Given the description of an element on the screen output the (x, y) to click on. 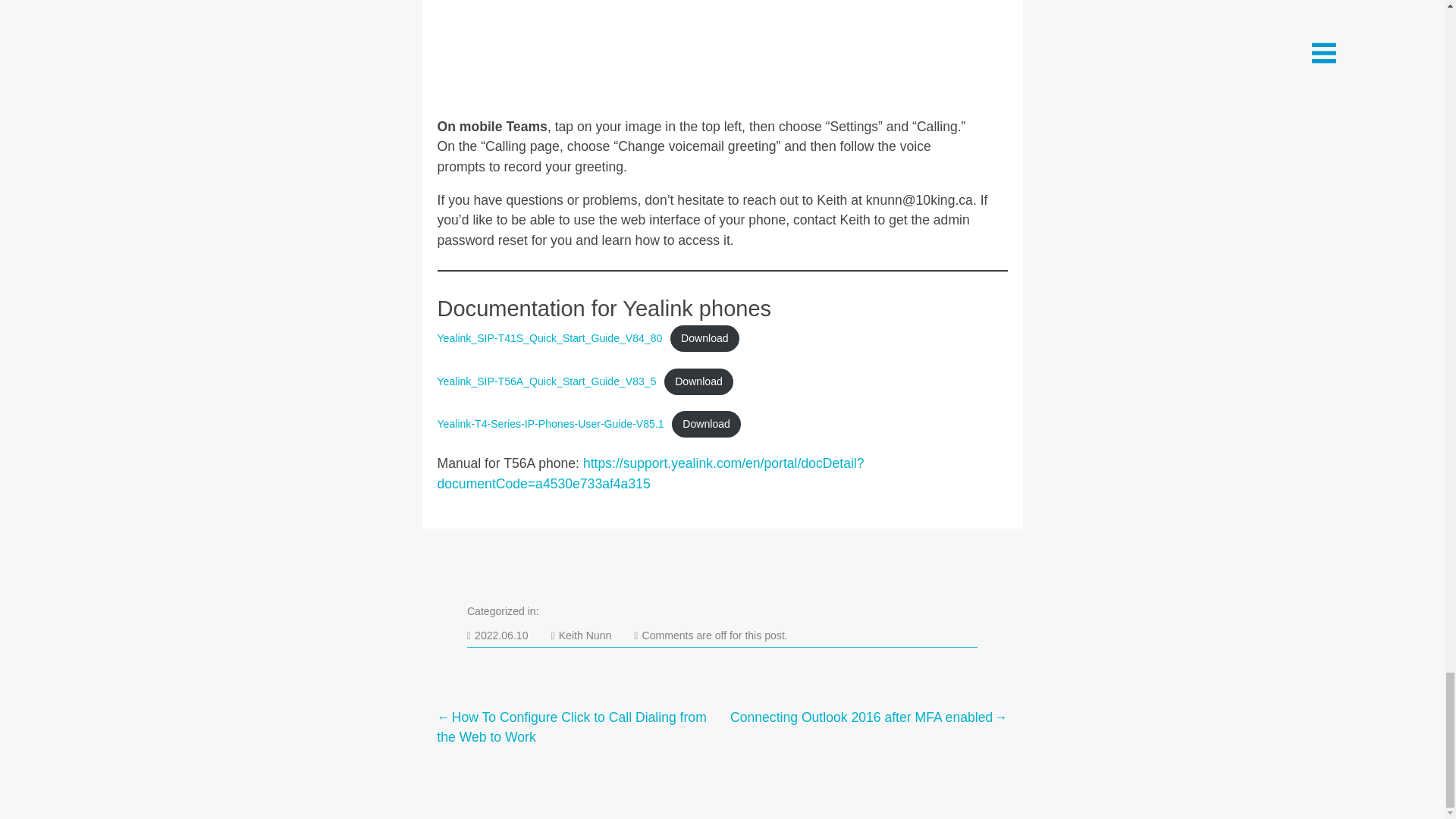
Yealink-T4-Series-IP-Phones-User-Guide-V85.1 (549, 423)
Keith Nunn (581, 635)
Connecting Outlook 2016 after MFA enabled (864, 717)
How To Configure Click to Call Dialing from the Web to Work (579, 727)
Download (704, 338)
Download (706, 424)
Download (497, 635)
